Given the description of an element on the screen output the (x, y) to click on. 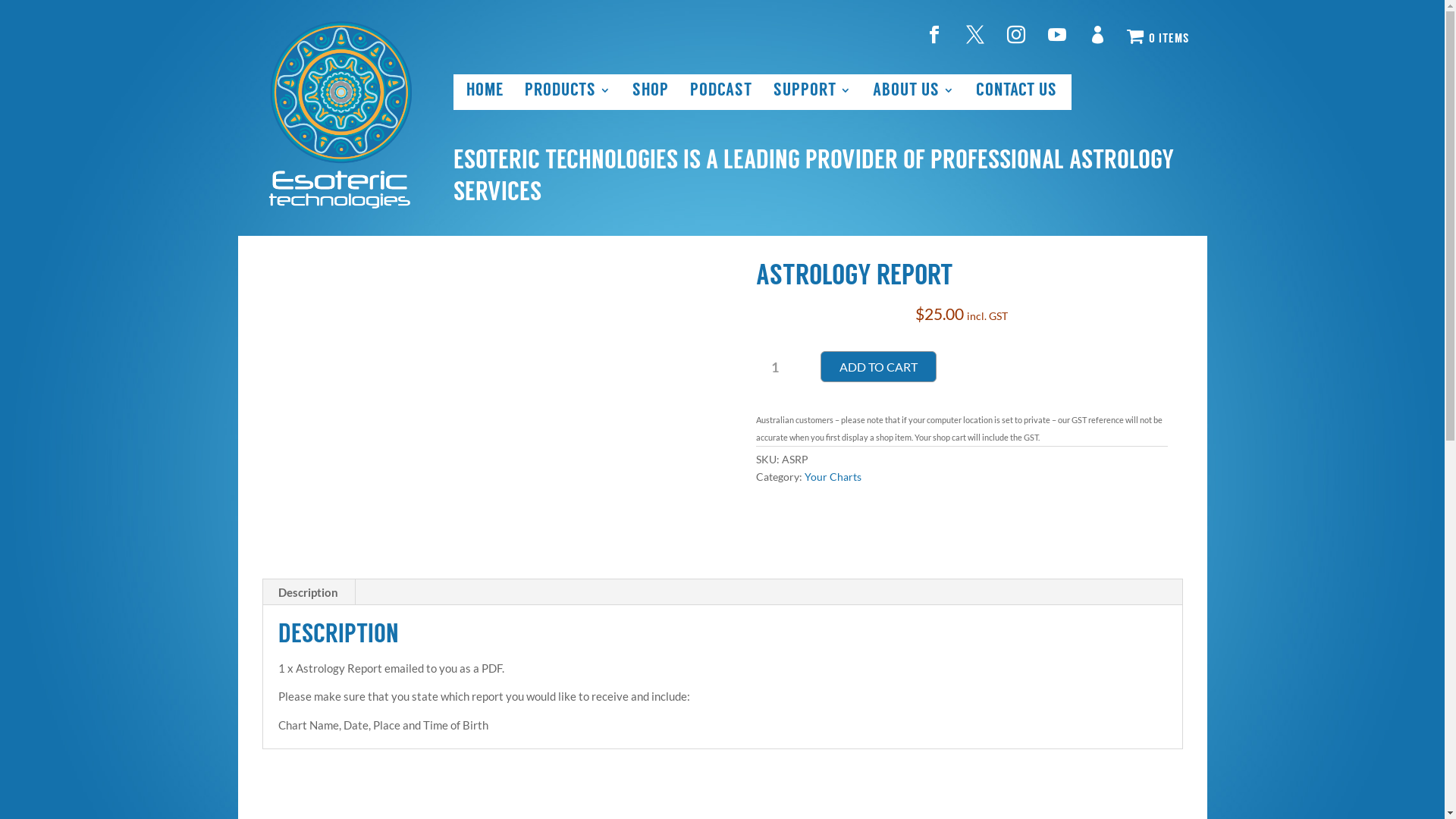
0 ITEMS Element type: text (1157, 37)
SUPPORT Element type: text (812, 91)
Visit EsoTech Facebook page Element type: hover (938, 37)
Your Charts Element type: text (832, 476)
Visit Seeing with Stars Twitter page Element type: hover (979, 37)
CONTACT US Element type: text (1016, 91)
ADD TO CART Element type: text (878, 366)
PRODUCTS Element type: text (567, 91)
PODCAST Element type: text (721, 91)
ABOUT US Element type: text (913, 91)
Access your Account here Element type: hover (1101, 37)
Visit EsoTech YouTube page Element type: hover (1061, 37)
HOME Element type: text (484, 91)
Description Element type: text (307, 592)
SHOP Element type: text (650, 91)
Visit EsoTech Instagram page Element type: hover (1020, 37)
